Given the description of an element on the screen output the (x, y) to click on. 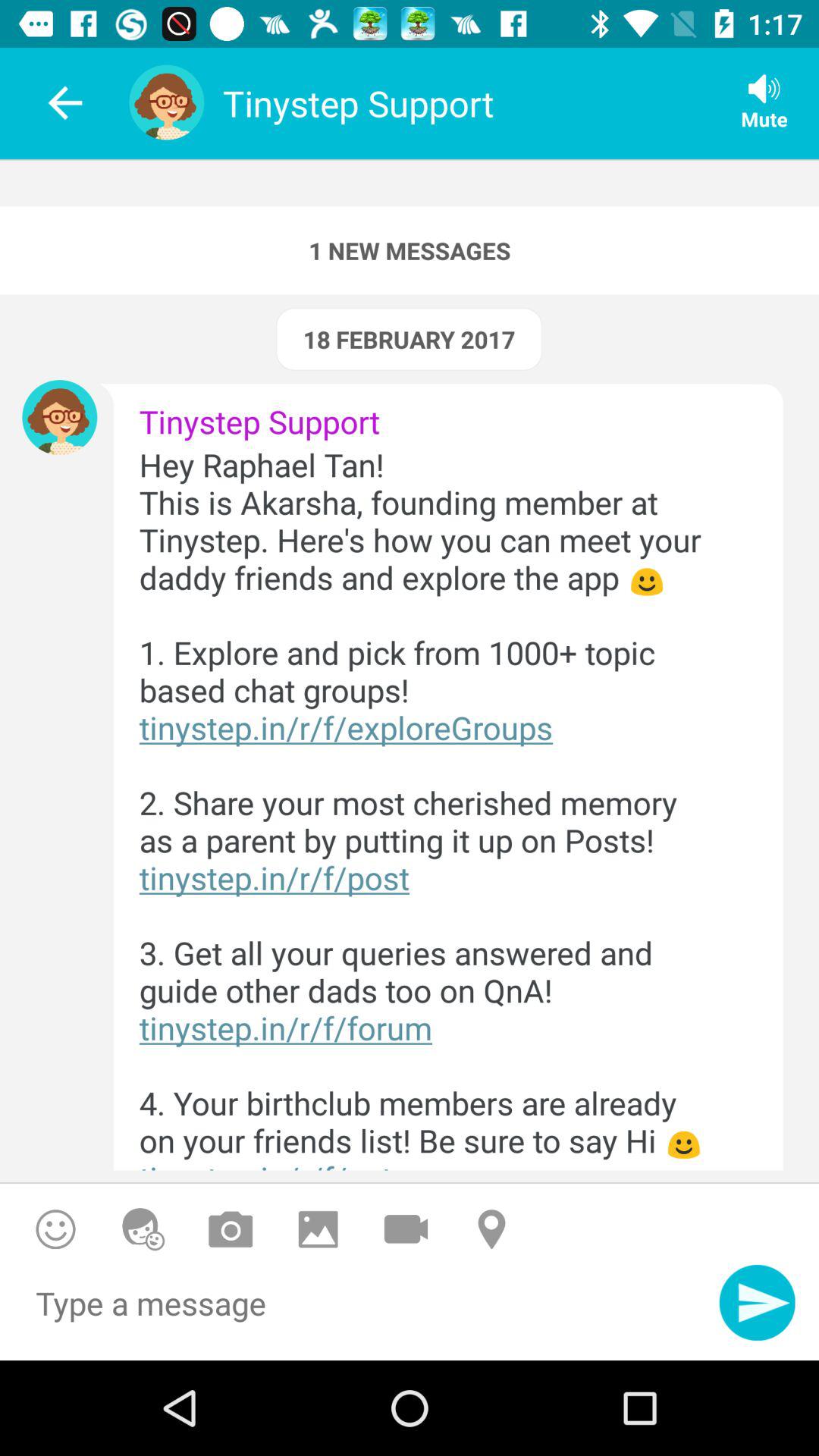
send a video (405, 1229)
